Given the description of an element on the screen output the (x, y) to click on. 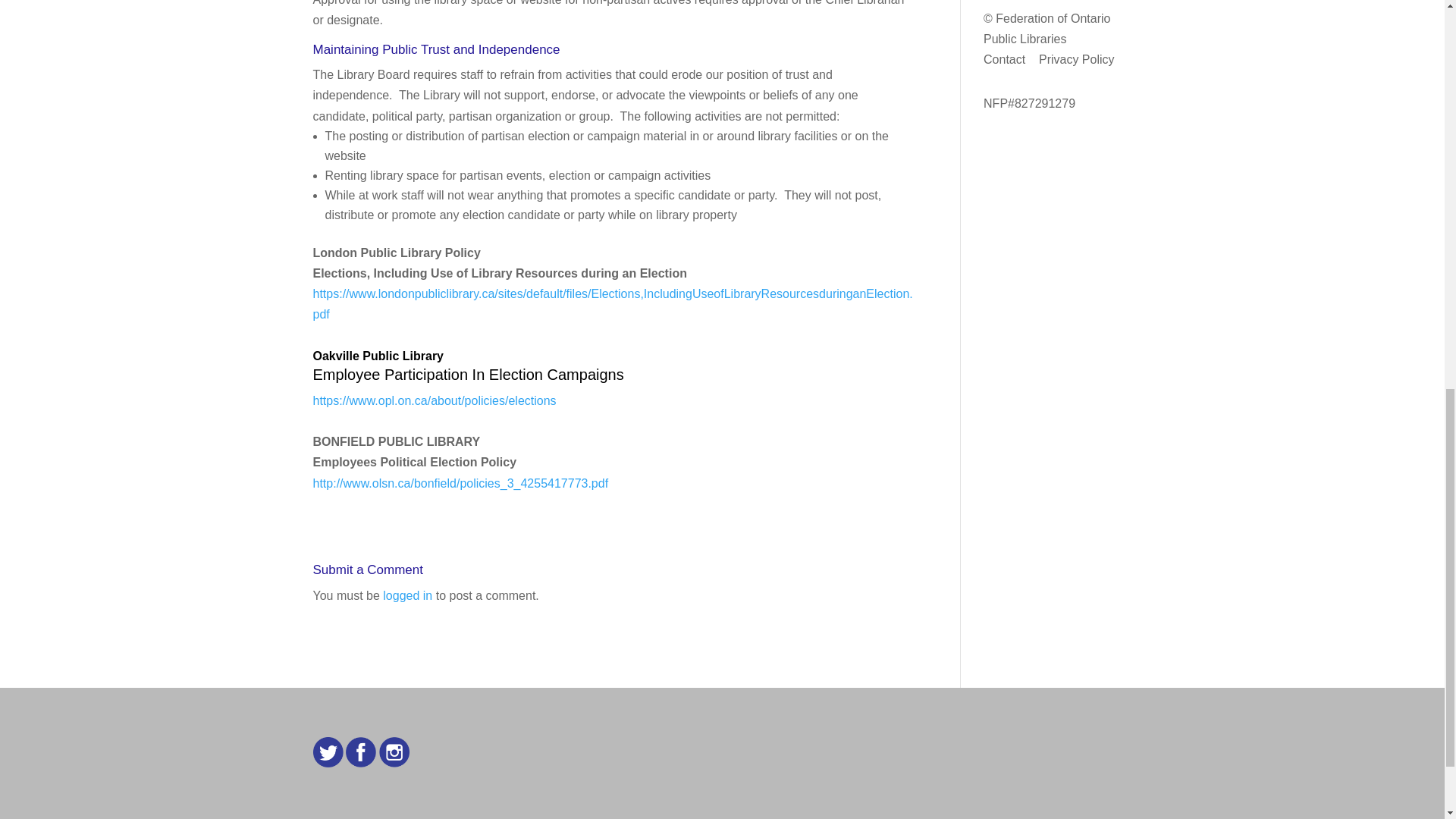
Privacy Policy (1077, 59)
Contact (1004, 59)
